Given the description of an element on the screen output the (x, y) to click on. 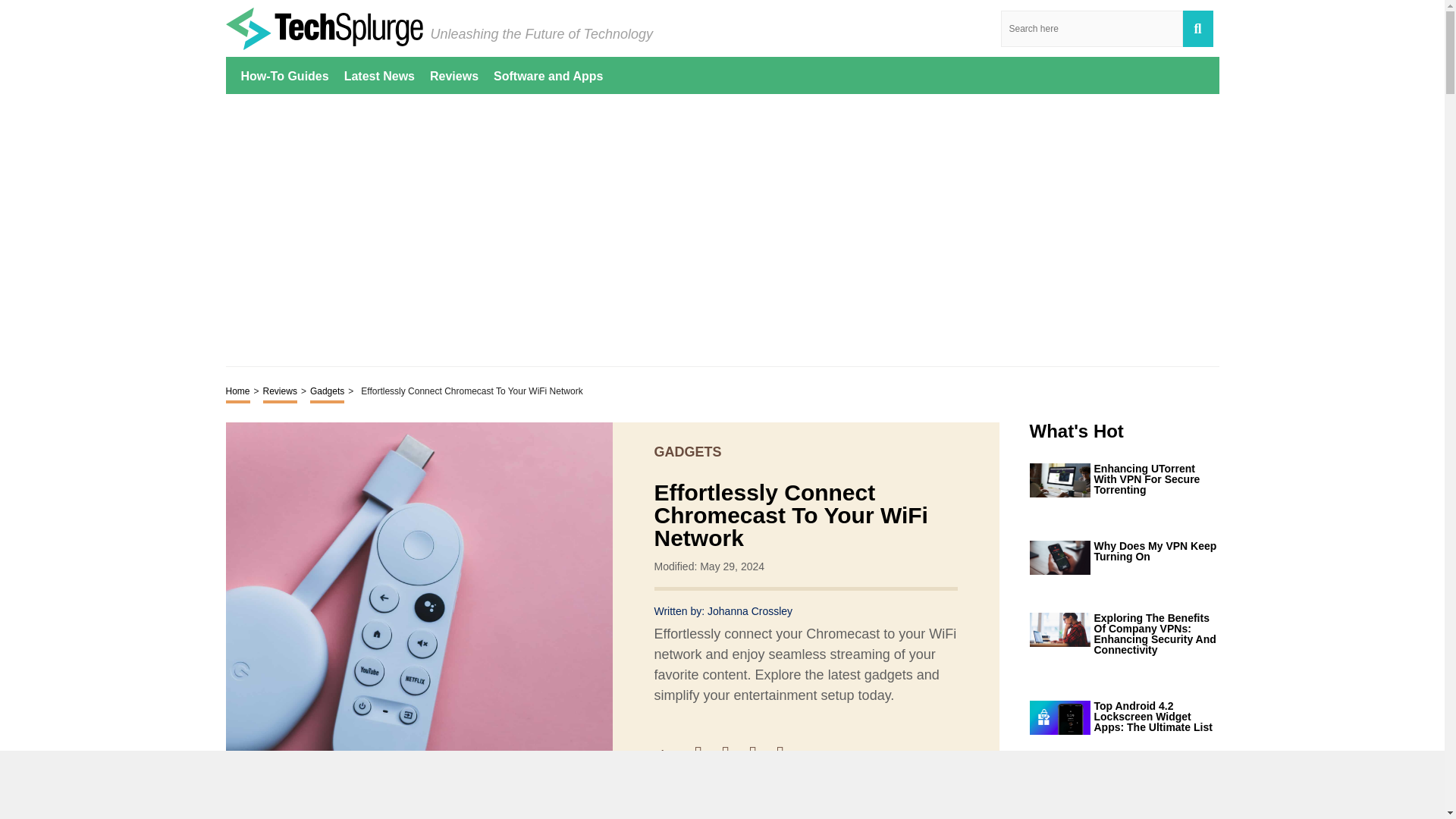
Share on WhatsApp (786, 753)
Latest News (378, 74)
Software and Apps (547, 74)
How-To Guides (285, 74)
Share on Twitter (732, 753)
Advertisement (721, 229)
Reviews (454, 74)
Gadgets (326, 392)
Johanna Crossley (749, 611)
Reviews (280, 392)
Share on Facebook (705, 753)
Share on Pinterest (759, 753)
Home (237, 392)
